Given the description of an element on the screen output the (x, y) to click on. 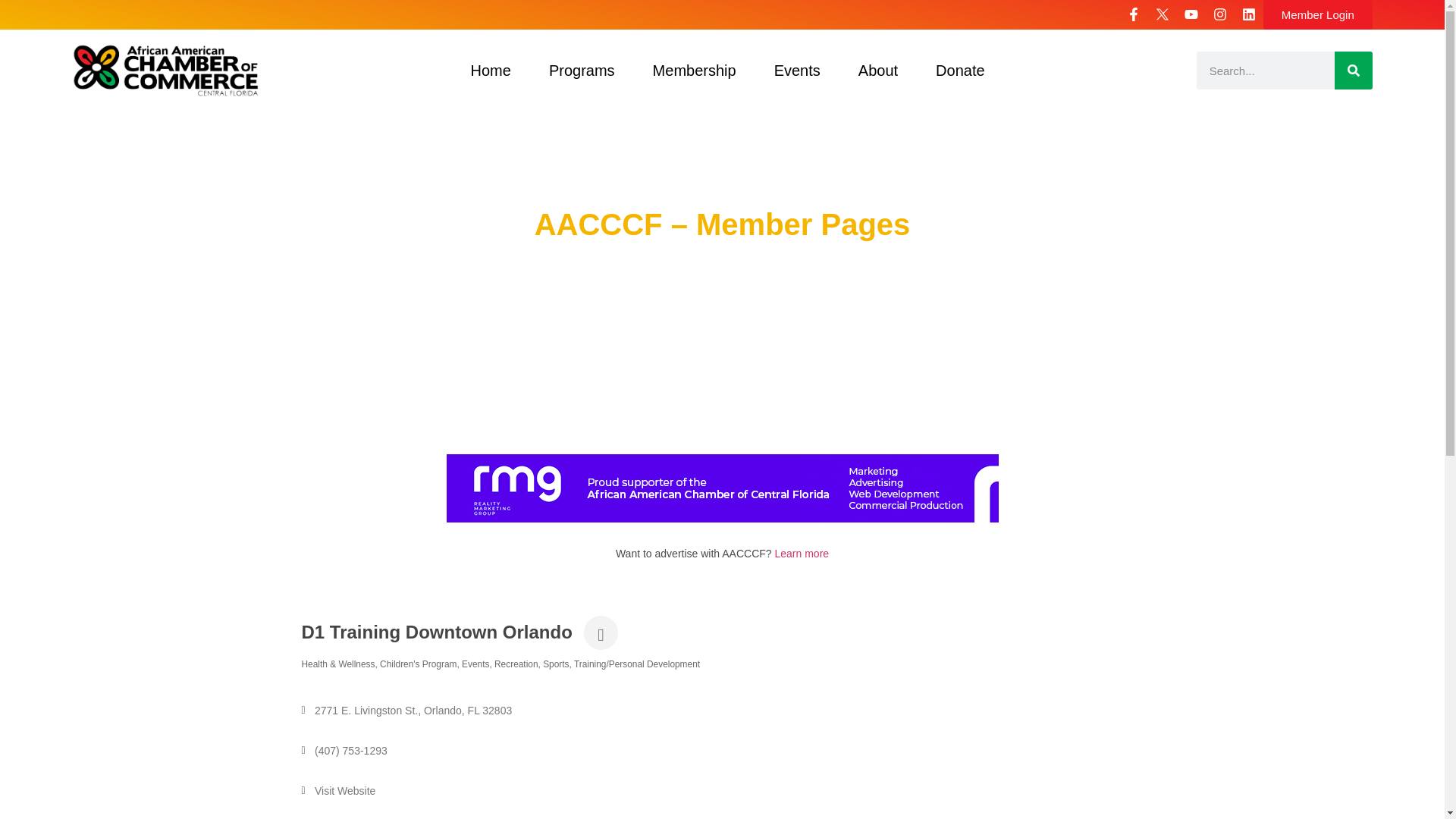
Events (797, 70)
Home (490, 70)
Membership (694, 70)
About (878, 70)
Member Login (1318, 14)
Donate (960, 70)
Programs (581, 70)
